Given the description of an element on the screen output the (x, y) to click on. 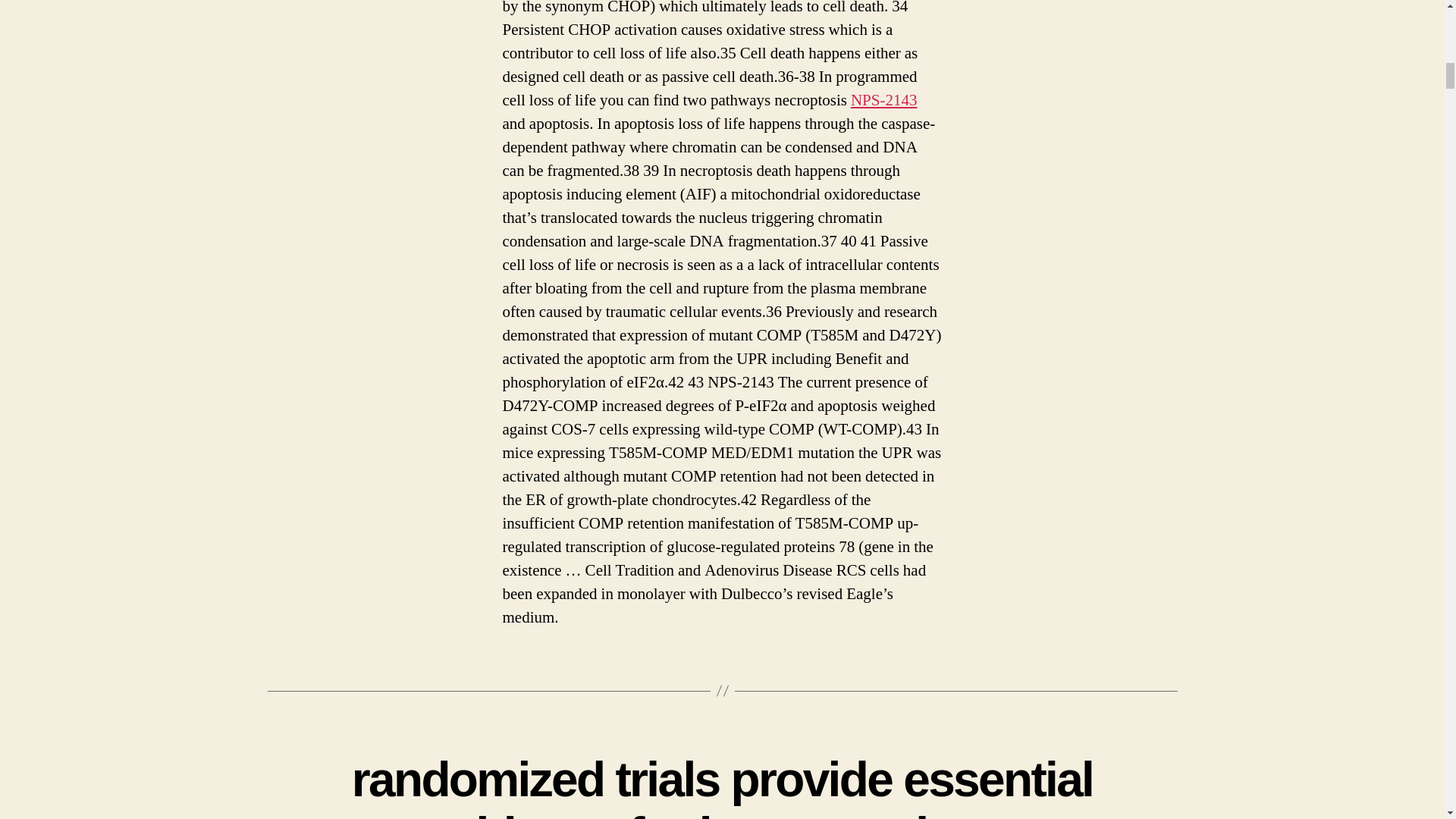
NPS-2143 (883, 100)
